Given the description of an element on the screen output the (x, y) to click on. 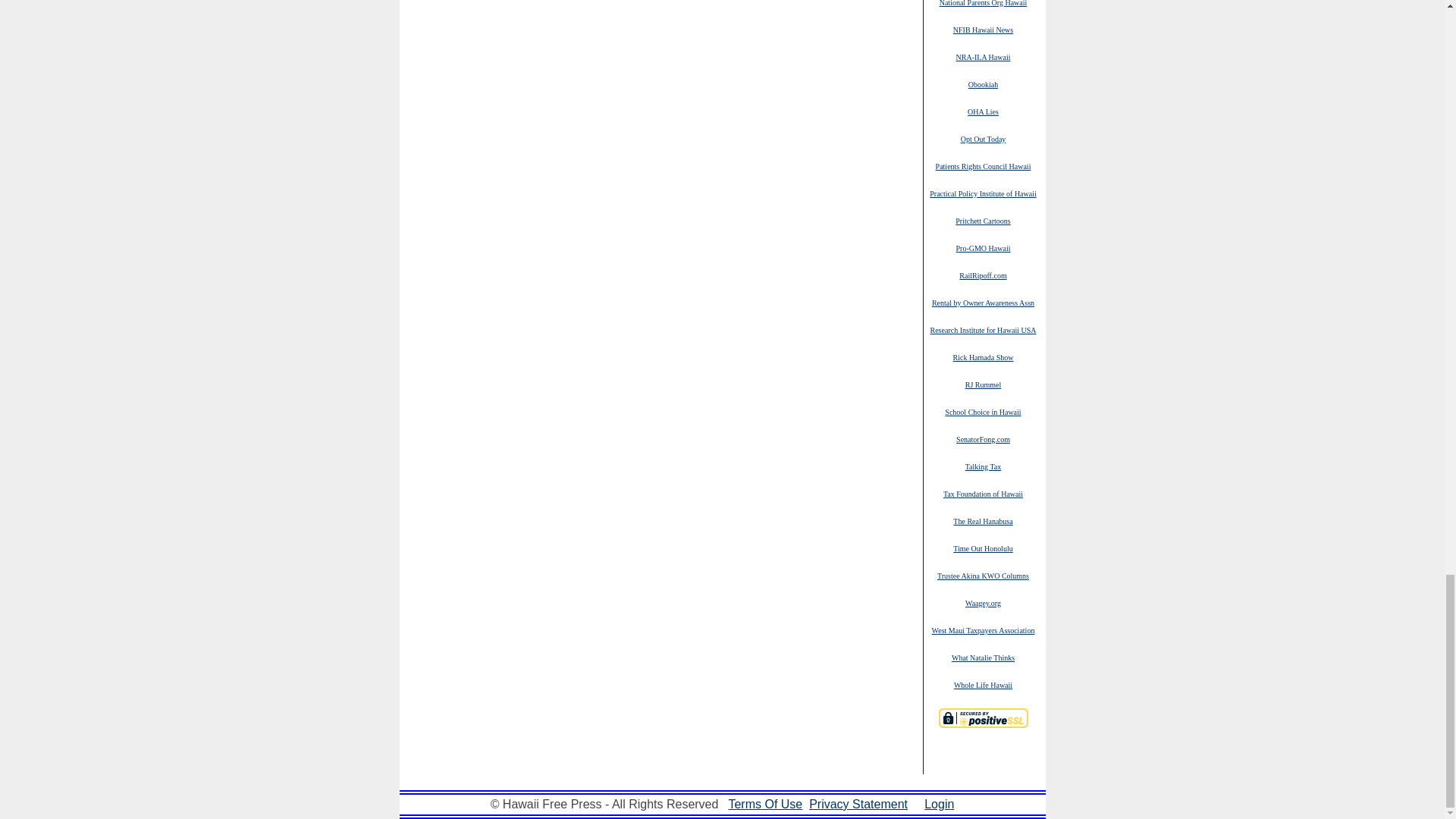
Login (938, 803)
